Given the description of an element on the screen output the (x, y) to click on. 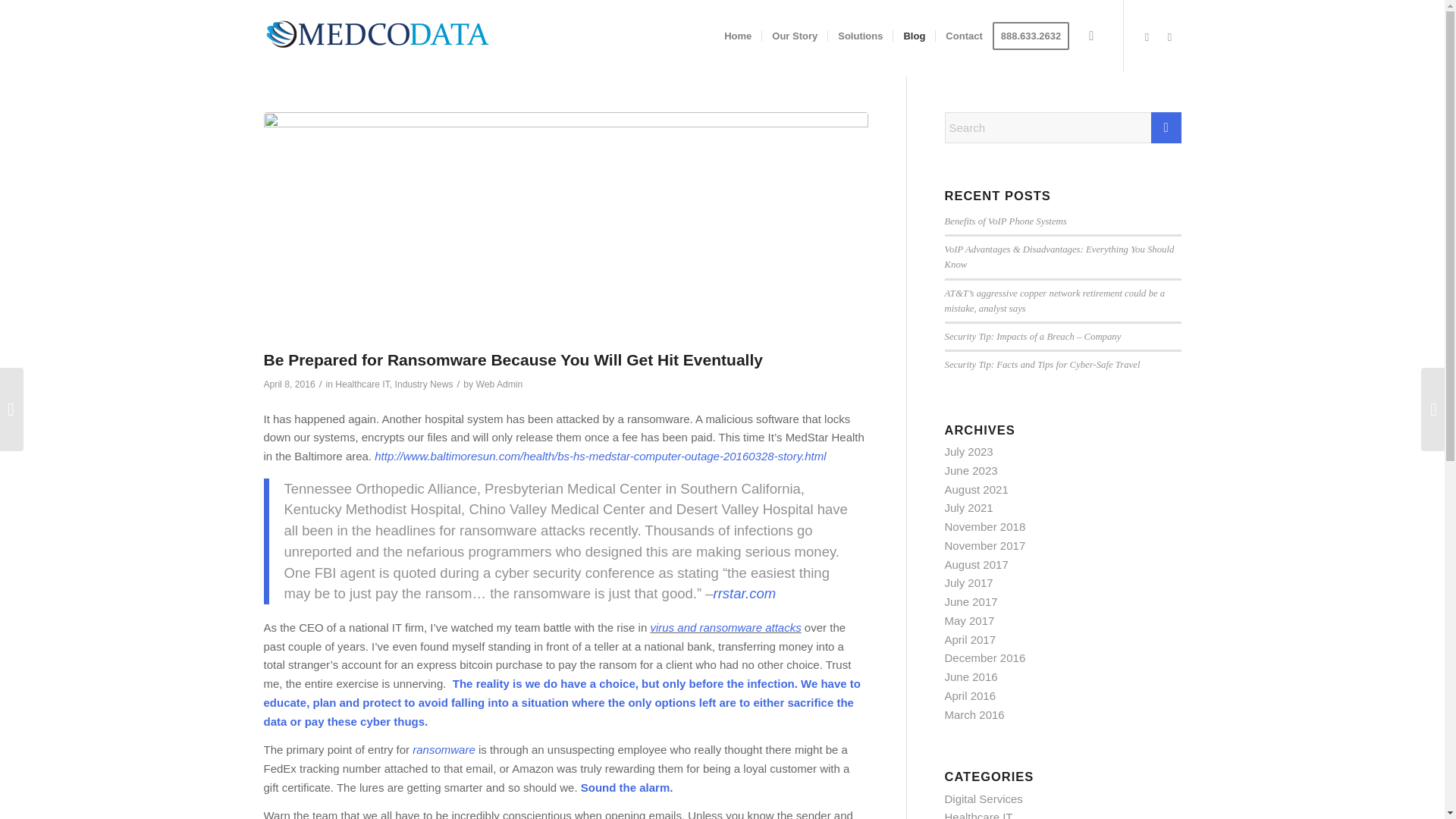
Industry News (423, 384)
Web Admin (499, 384)
888.633.2632 (1036, 36)
Our Story (794, 36)
ransomware (444, 748)
Security Tip: Facts and Tips for Cyber-Safe Travel (1042, 364)
rrstar.com (744, 593)
Posts by Web Admin (499, 384)
LinkedIn (1146, 36)
